Given the description of an element on the screen output the (x, y) to click on. 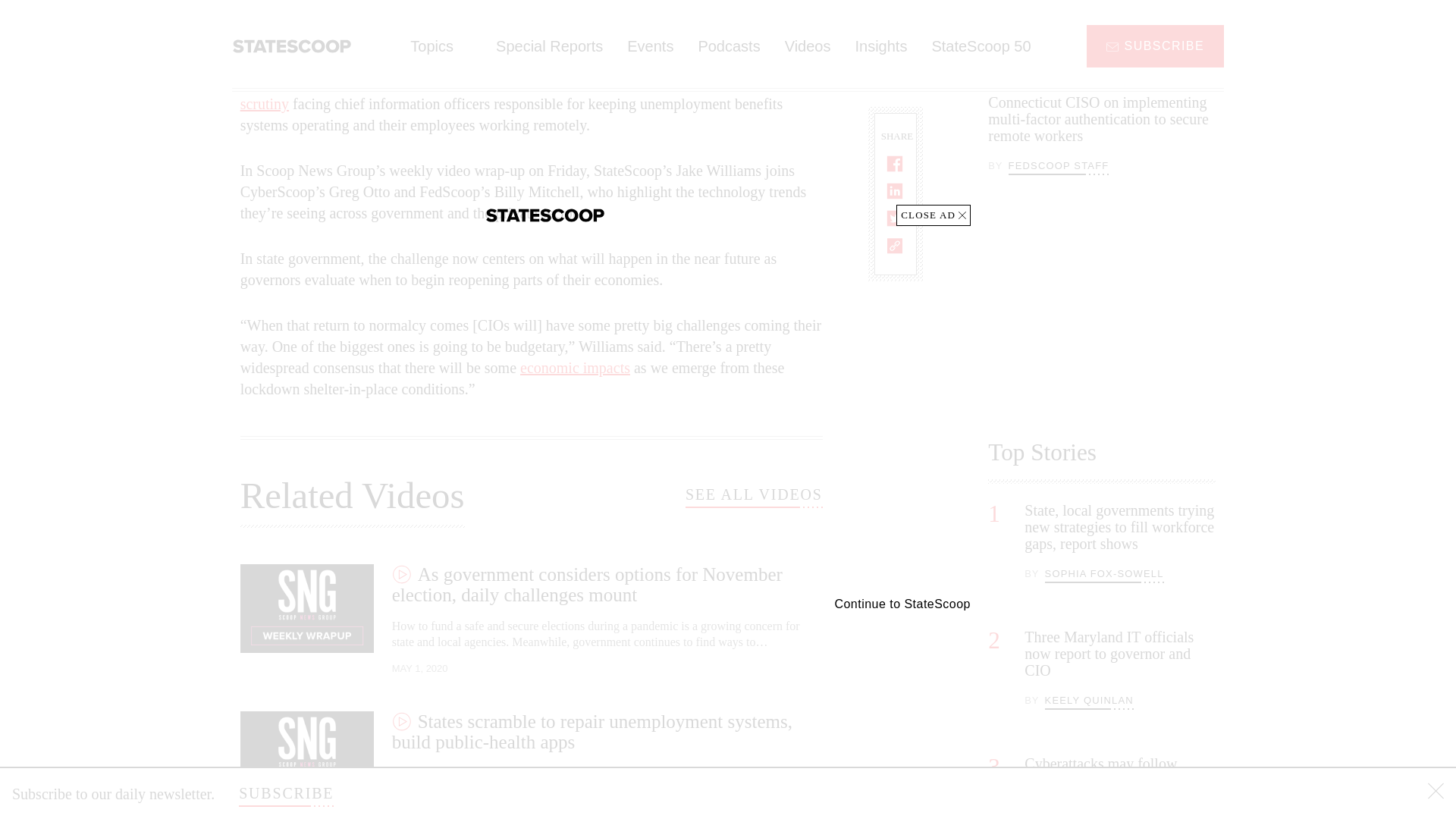
Scoop News Group weekly wrap-up -- April 24, 2020 (531, 15)
